Given the description of an element on the screen output the (x, y) to click on. 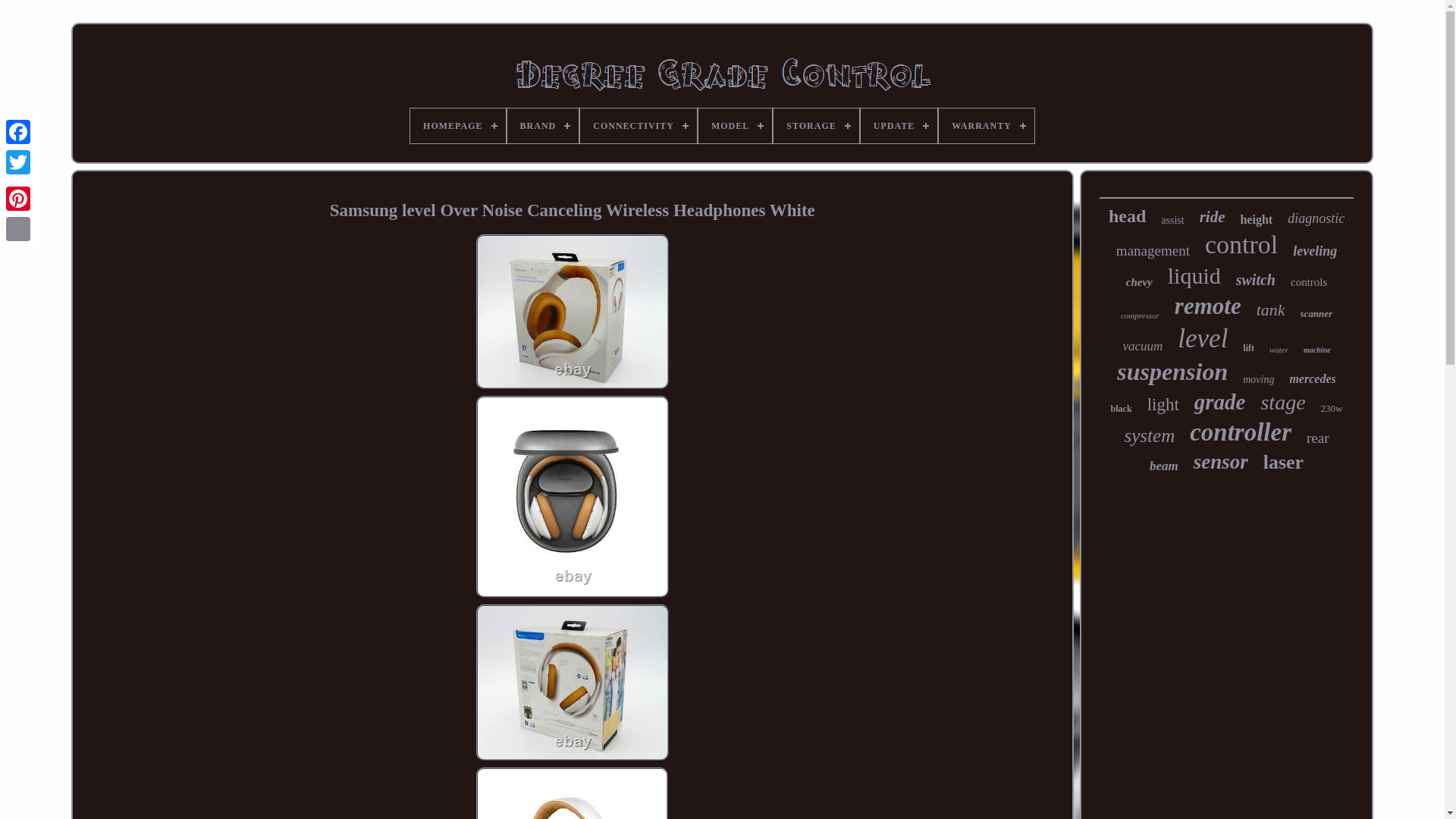
Samsung level Over Noise Canceling Wireless Headphones White (572, 793)
Samsung level Over Noise Canceling Wireless Headphones White (572, 682)
Samsung level Over Noise Canceling Wireless Headphones White (572, 311)
BRAND (542, 125)
Samsung level Over Noise Canceling Wireless Headphones White (572, 496)
HOMEPAGE (457, 125)
CONNECTIVITY (638, 125)
